Given the description of an element on the screen output the (x, y) to click on. 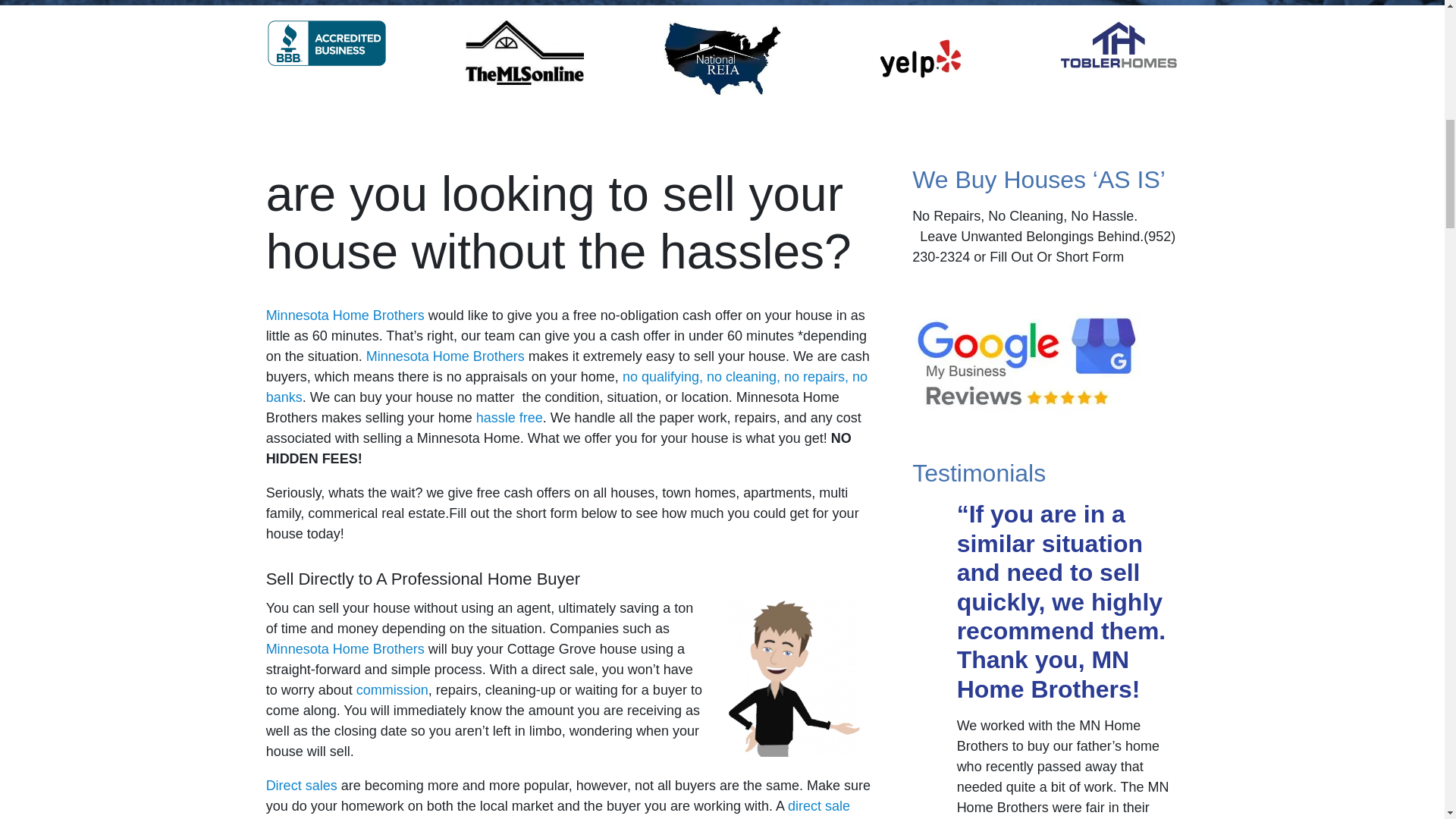
Minnesota Home Brothers (345, 648)
hassle free (509, 417)
Direct sales (301, 785)
Minnesota Home Brothers (445, 355)
no qualifying, no cleaning, no repairs, no banks (566, 386)
commission (392, 689)
direct sale (818, 806)
Minnesota Home Brothers (345, 314)
